Given the description of an element on the screen output the (x, y) to click on. 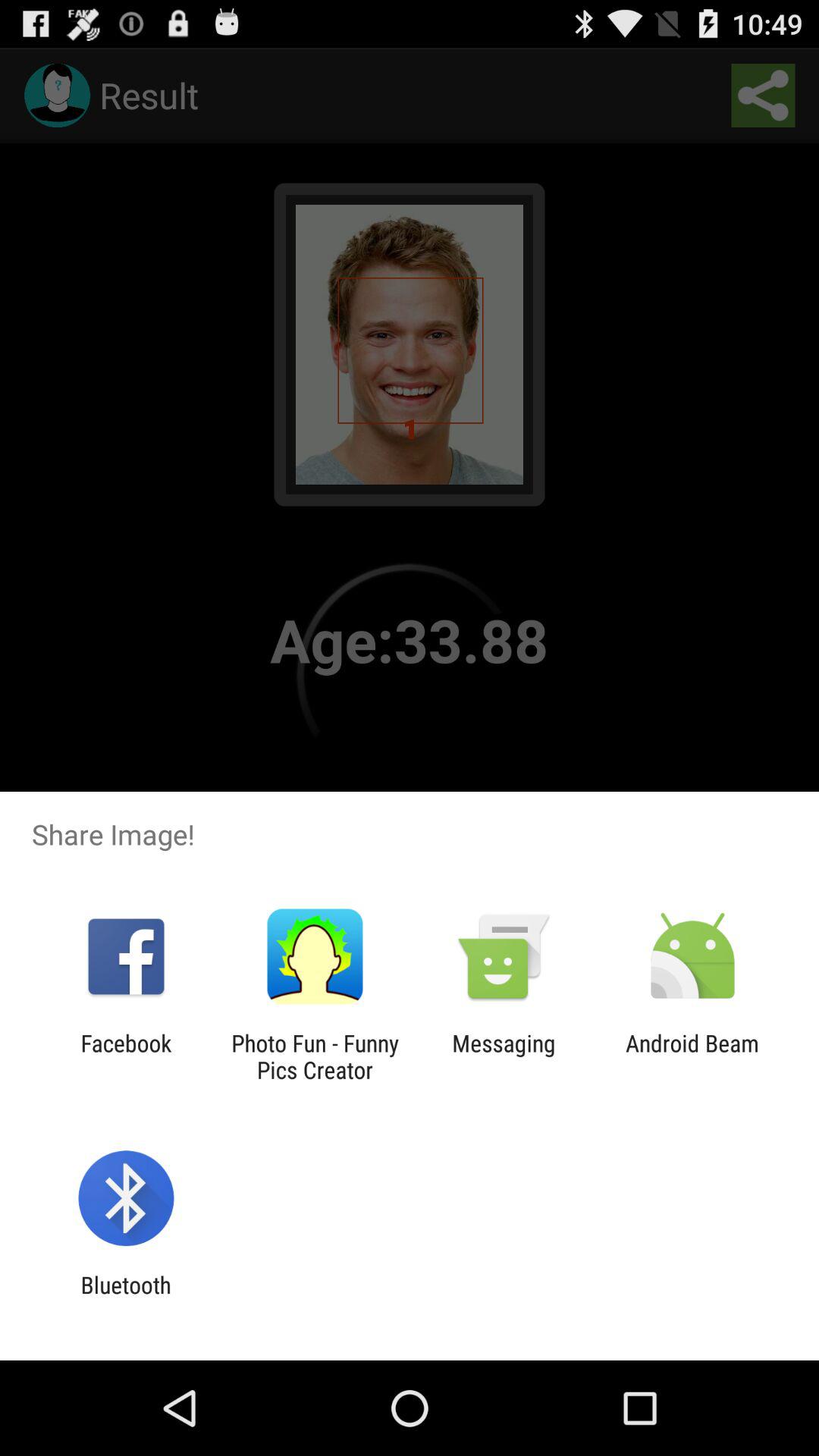
choose the facebook (125, 1056)
